Given the description of an element on the screen output the (x, y) to click on. 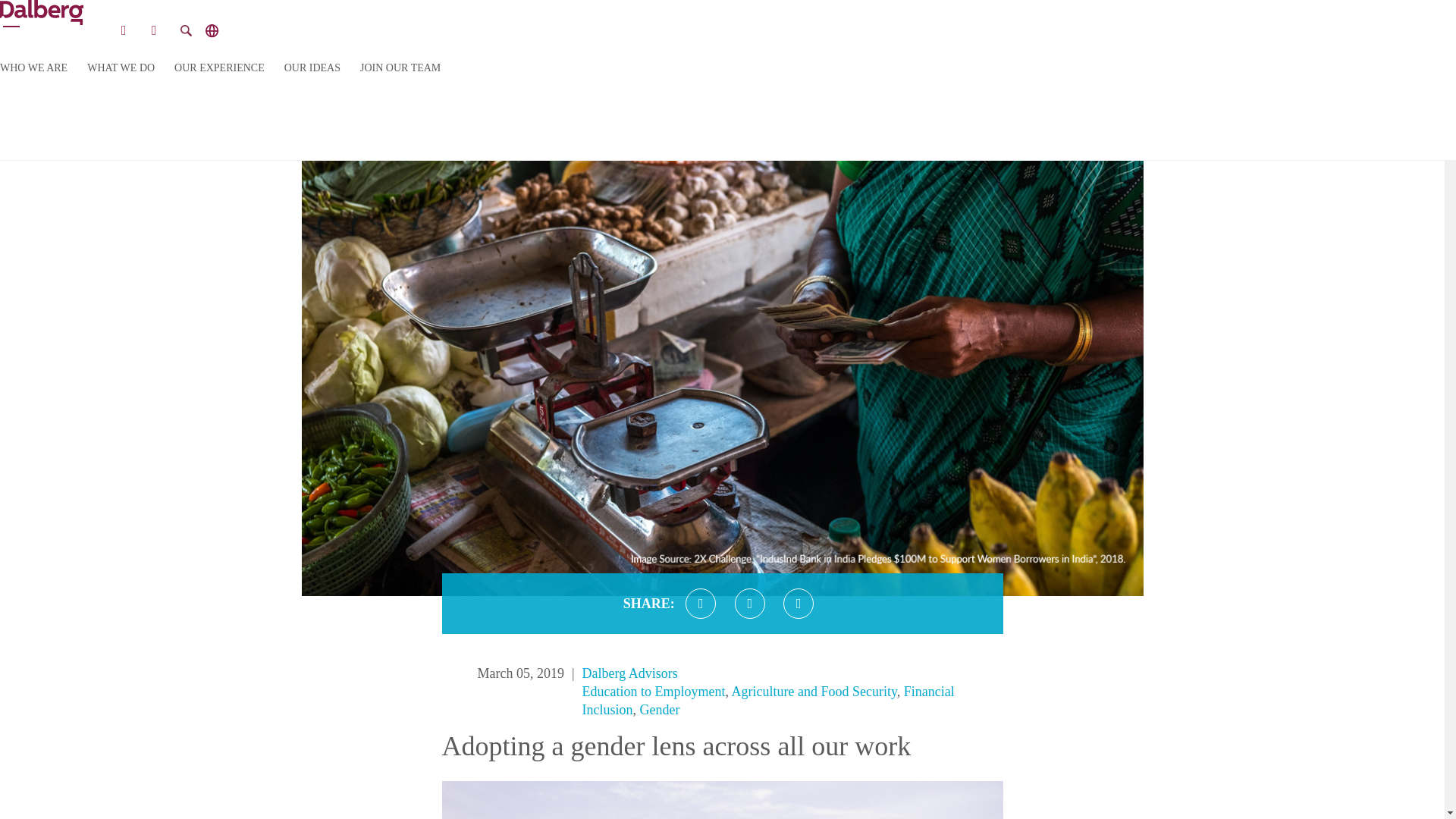
WHAT WE DO (120, 67)
WHO WE ARE (33, 67)
OUR IDEAS (311, 67)
Dalberg Advisors (630, 672)
OUR EXPERIENCE (219, 67)
JOIN OUR TEAM (400, 67)
